Given the description of an element on the screen output the (x, y) to click on. 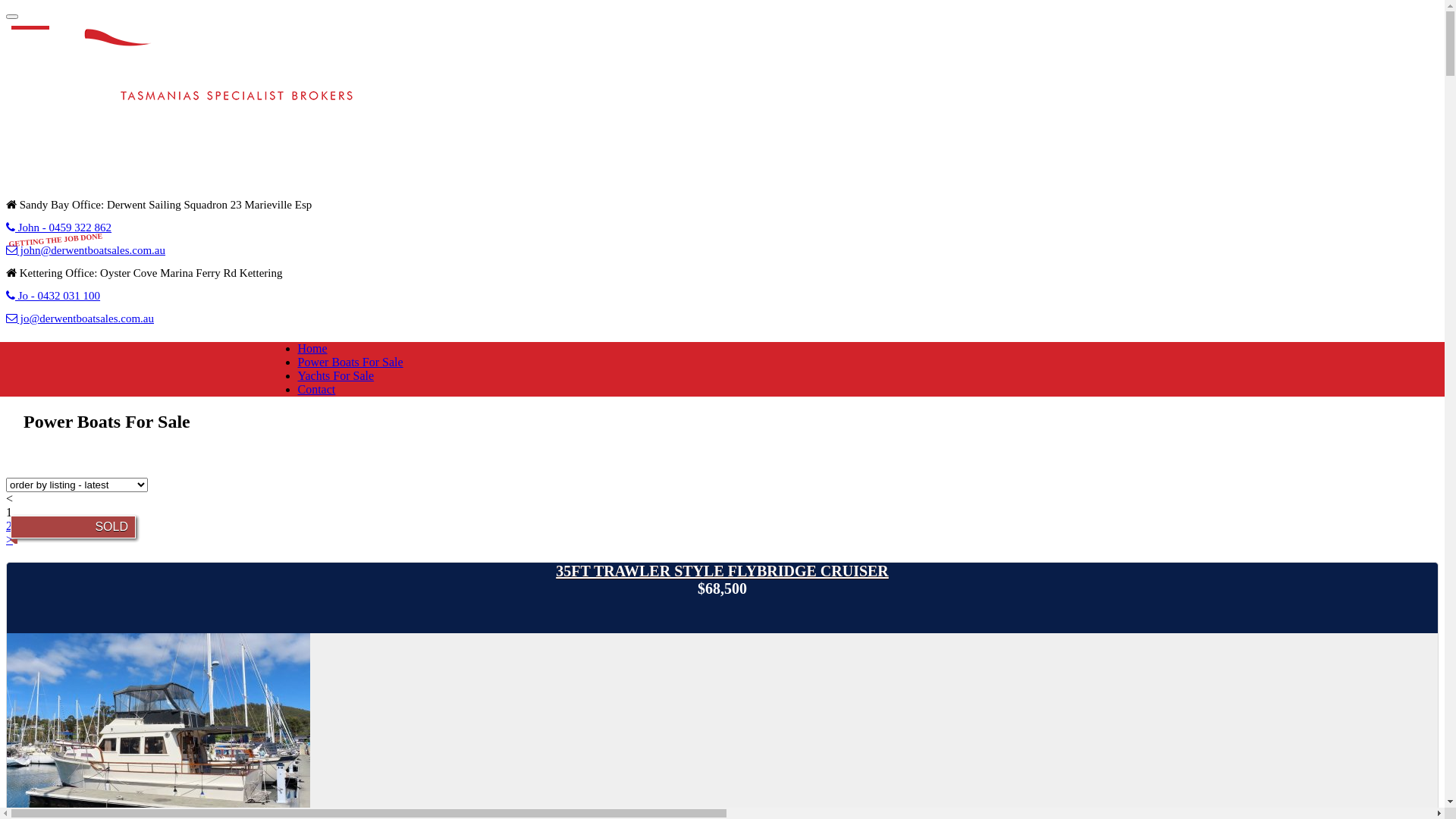
35FT TRAWLER STYLE FLYBRIDGE CRUISER Element type: text (721, 571)
1 Element type: text (9, 511)
Derwent Boat Sales Element type: hover (191, 83)
Yachts For Sale Element type: text (335, 375)
john@derwentboatsales.com.au Element type: text (85, 250)
Home Element type: text (311, 348)
> Element type: text (9, 539)
< Element type: text (9, 498)
2 Element type: text (9, 525)
John - 0459 322 862 Element type: text (58, 227)
Contact Element type: text (316, 388)
jo@derwentboatsales.com.au Element type: text (79, 318)
Power Boats For Sale Element type: text (349, 361)
Jo - 0432 031 100 Element type: text (53, 295)
Toggle navigation Element type: text (12, 16)
